Given the description of an element on the screen output the (x, y) to click on. 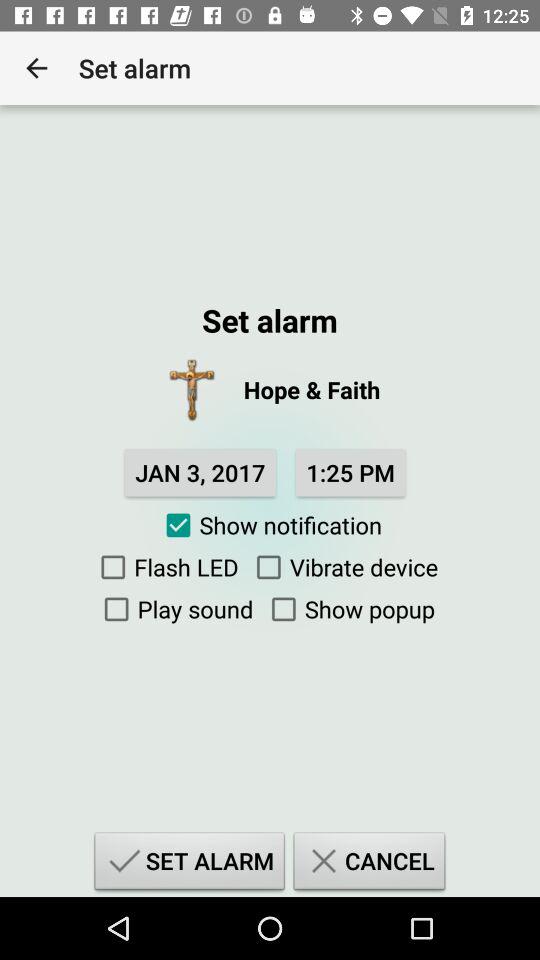
press the 1:25 pm item (350, 472)
